Given the description of an element on the screen output the (x, y) to click on. 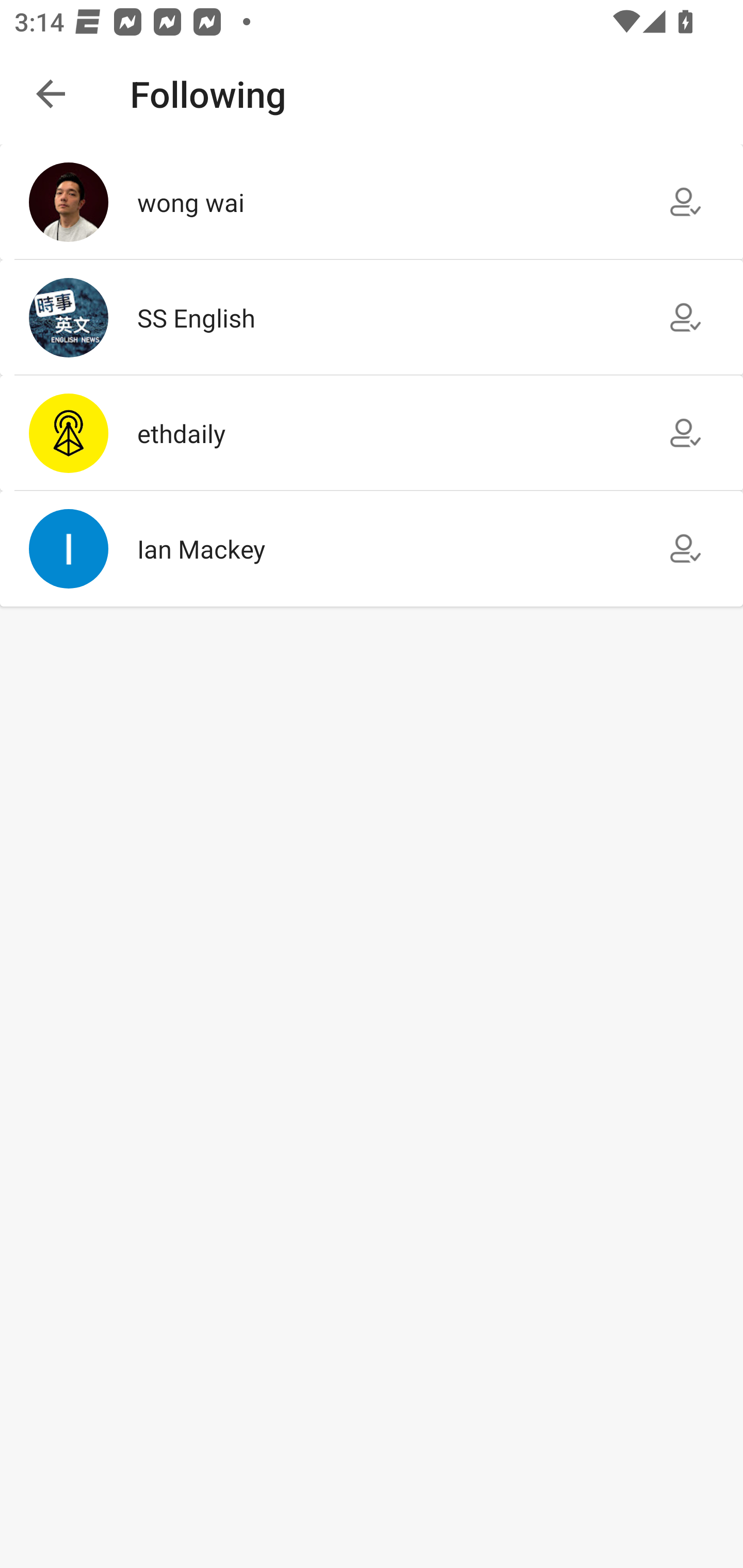
Navigate up (50, 93)
wong wai (371, 202)
SS English (371, 317)
ethdaily (371, 432)
Ian Mackey (371, 548)
